Given the description of an element on the screen output the (x, y) to click on. 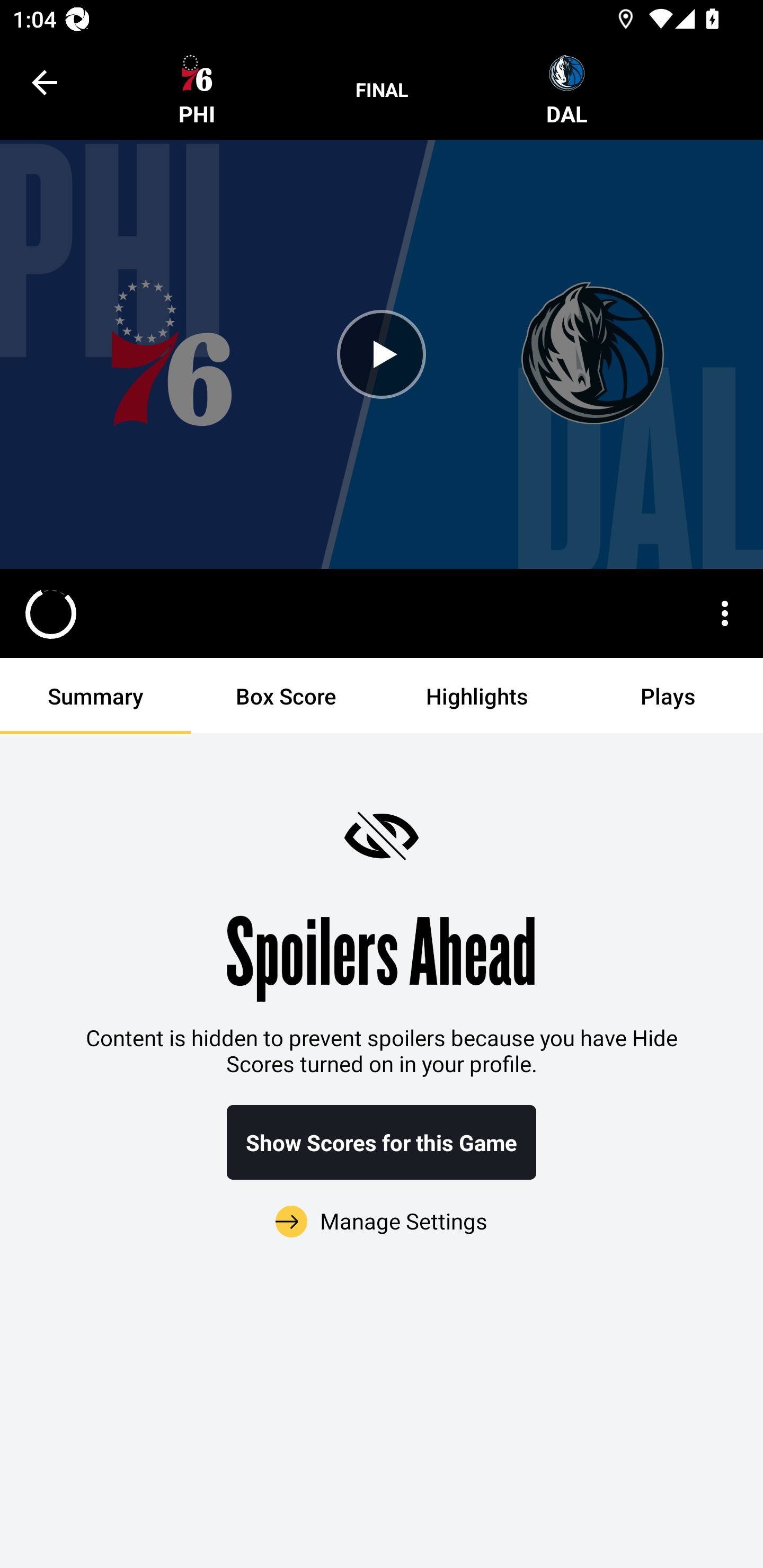
Navigate up (44, 82)
More options (724, 613)
Box Score (285, 695)
Highlights (476, 695)
Plays (667, 695)
Show Scores for this Game (381, 1141)
Manage Settings (381, 1210)
